Given the description of an element on the screen output the (x, y) to click on. 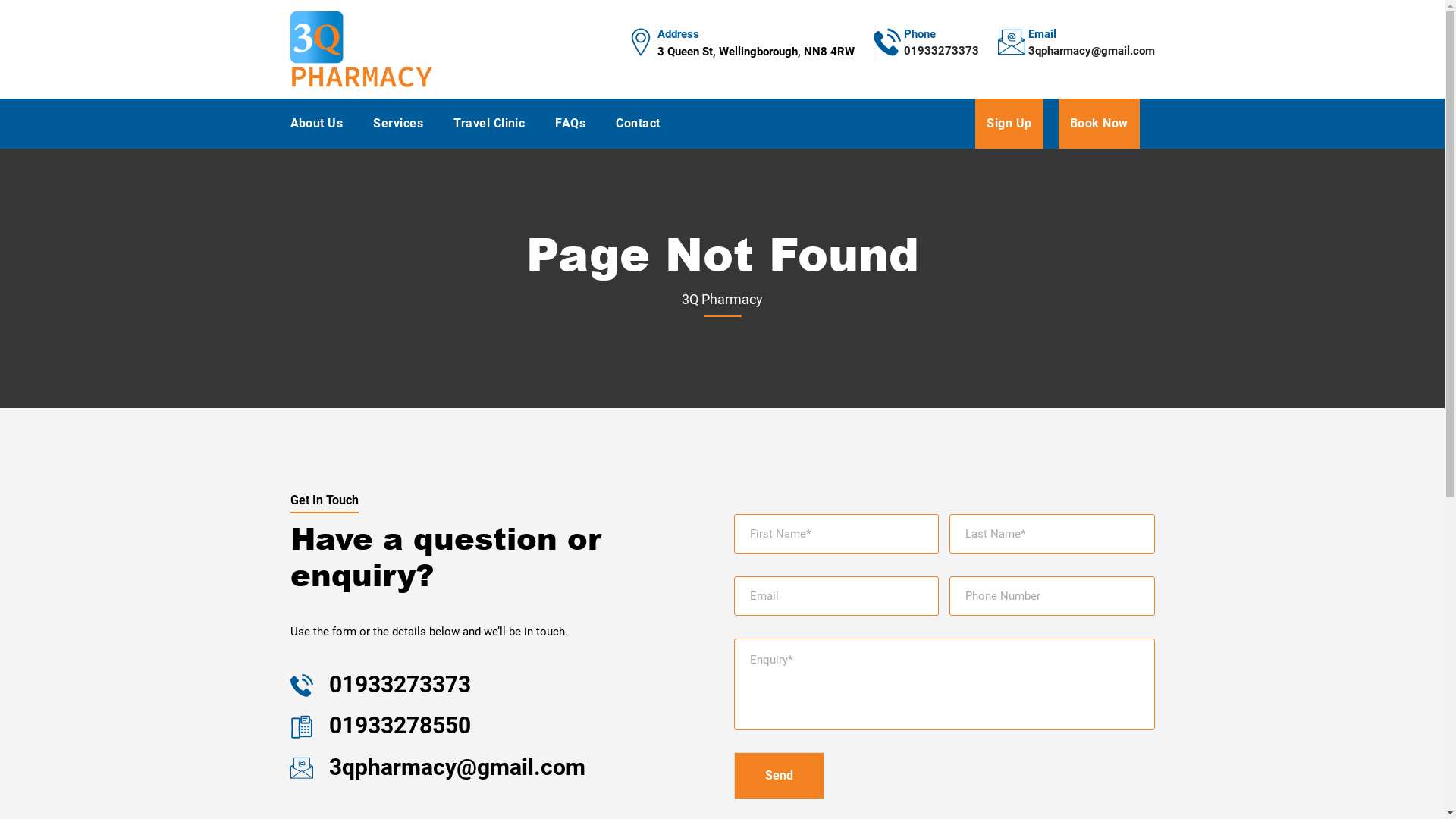
About Us Element type: text (315, 123)
3qpharmacy@gmail.com Element type: text (453, 766)
01933278550 Element type: text (396, 725)
3Q Pharmacy Element type: hover (360, 48)
Sign Up Element type: text (1008, 123)
Book Now Element type: text (1098, 123)
Services Element type: text (398, 123)
Contact Element type: text (637, 123)
Send Element type: text (779, 775)
Travel Clinic Element type: text (488, 123)
01933273373 Element type: text (396, 684)
FAQs Element type: text (570, 123)
01933273373 Element type: text (941, 58)
3qpharmacy@gmail.com Element type: text (1091, 58)
